Given the description of an element on the screen output the (x, y) to click on. 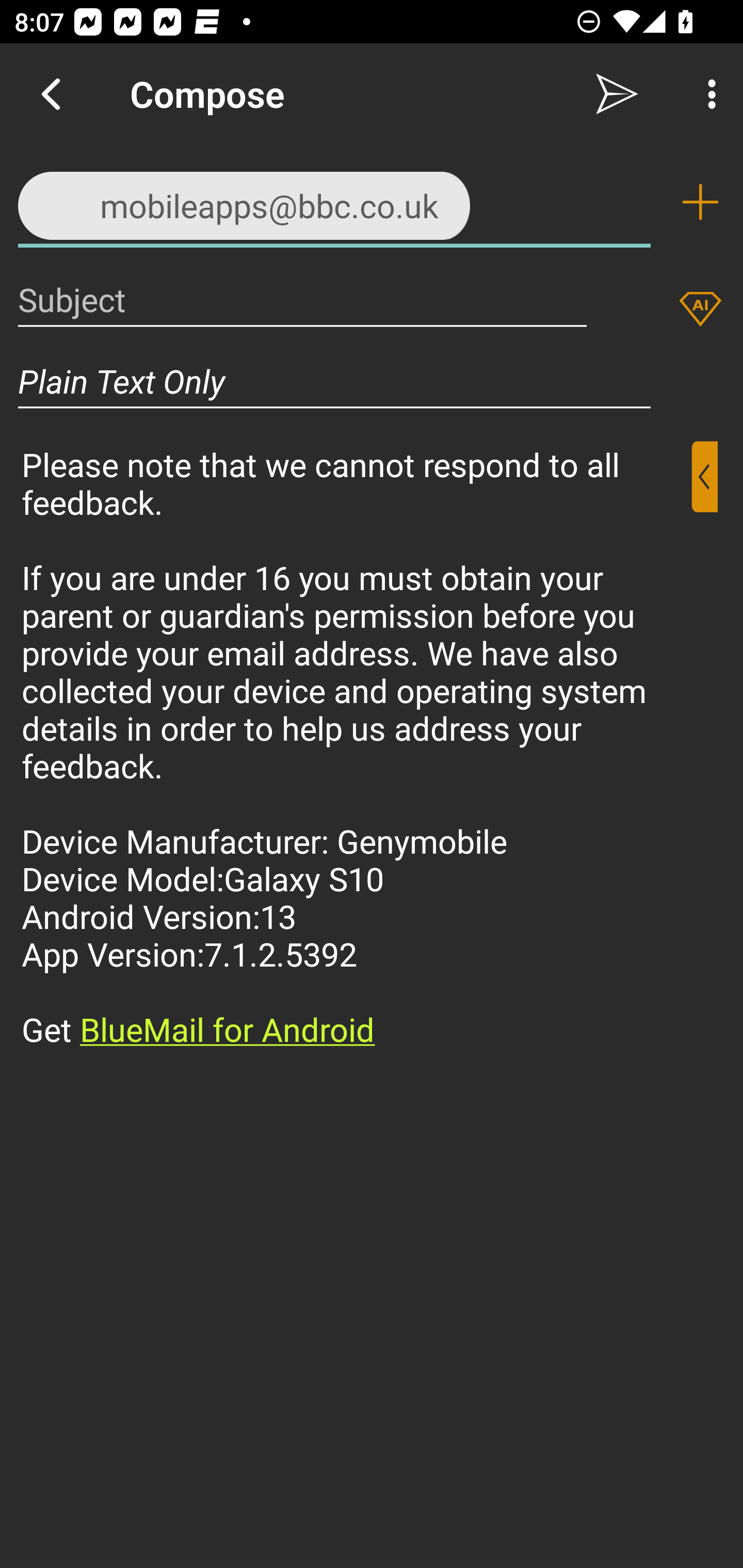
Navigate up (50, 93)
Send (616, 93)
More Options (706, 93)
<mobileapps@bbc.co.uk>,  (334, 201)
Add recipient (To) (699, 201)
Subject (302, 299)
Plain Text Only (334, 380)
